Given the description of an element on the screen output the (x, y) to click on. 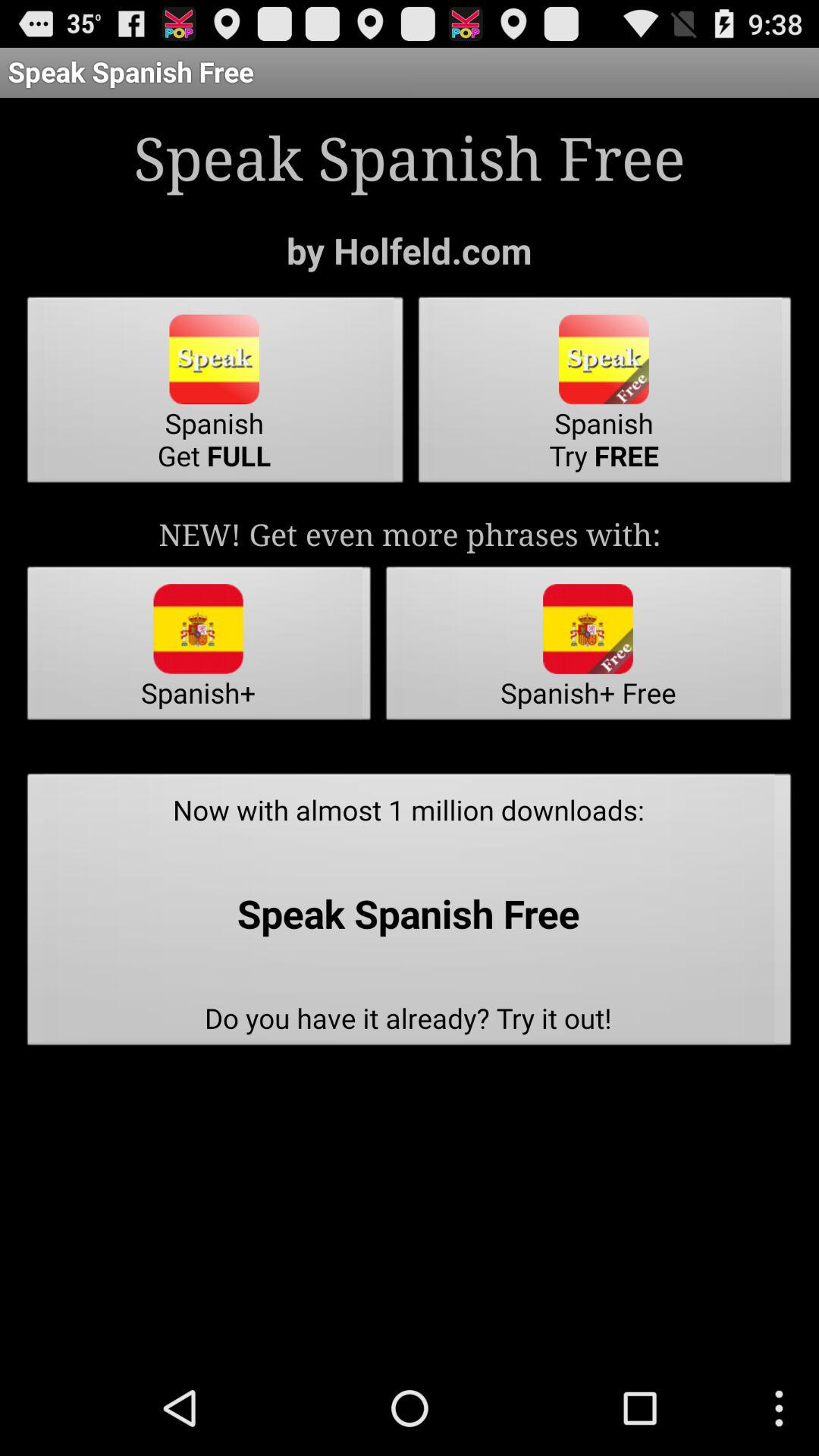
turn off icon below the spanish+ item (409, 913)
